Given the description of an element on the screen output the (x, y) to click on. 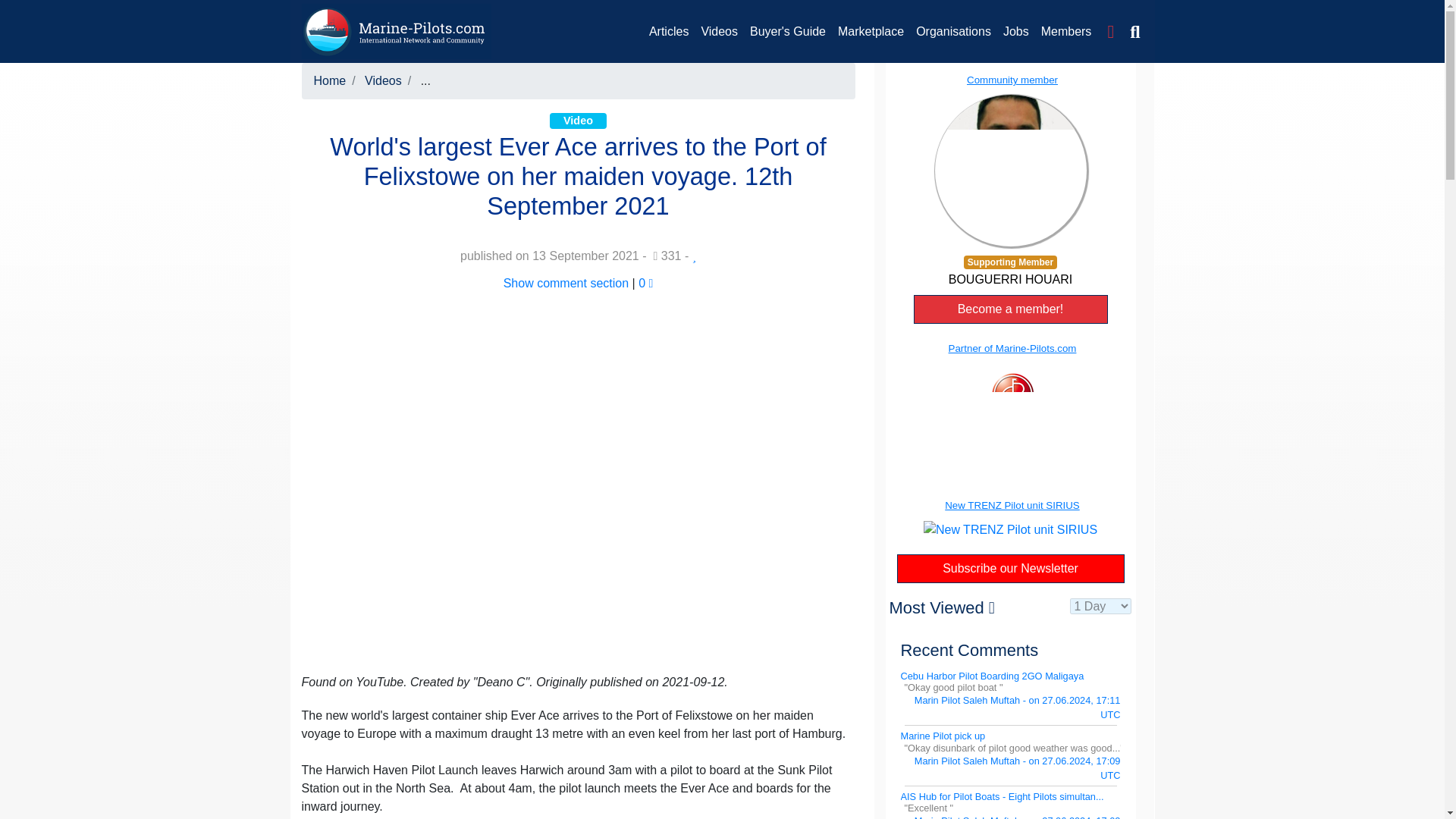
Marketplace (870, 31)
331 (666, 255)
Organisations (953, 31)
Partner of Marine-Pilots.com (1009, 394)
Jobs (1016, 31)
Articles (668, 31)
Buyer's Guide (787, 31)
Show comment section (565, 282)
Community member (1009, 159)
Home (330, 80)
